Given the description of an element on the screen output the (x, y) to click on. 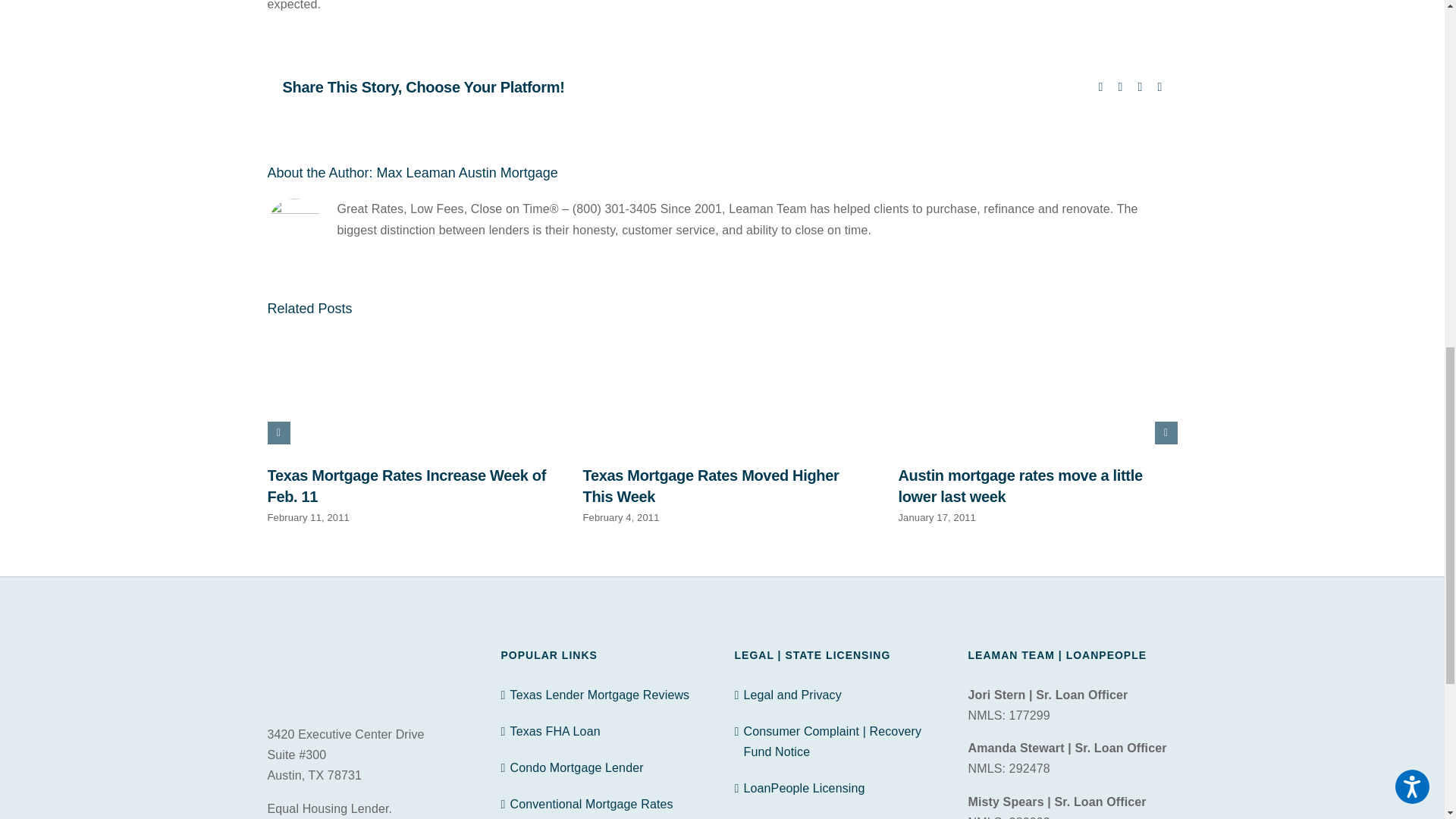
Condo Mortgage Lender (605, 767)
Texas FHA Loan (605, 731)
Texas Mortgage Rates Moved Higher This Week (710, 485)
Austin mortgage rates move a little lower last week (1019, 485)
Max Leaman Austin Mortgage (467, 172)
Texas Mortgage Rates Increase Week of Feb. 11 (406, 485)
Austin mortgage rates move a little lower last week (1019, 485)
Texas Mortgage Rates Moved Higher This Week (710, 485)
Texas Lender Mortgage Reviews (605, 694)
Texas Mortgage Rates Increase Week of Feb. 11 (406, 485)
